Given the description of an element on the screen output the (x, y) to click on. 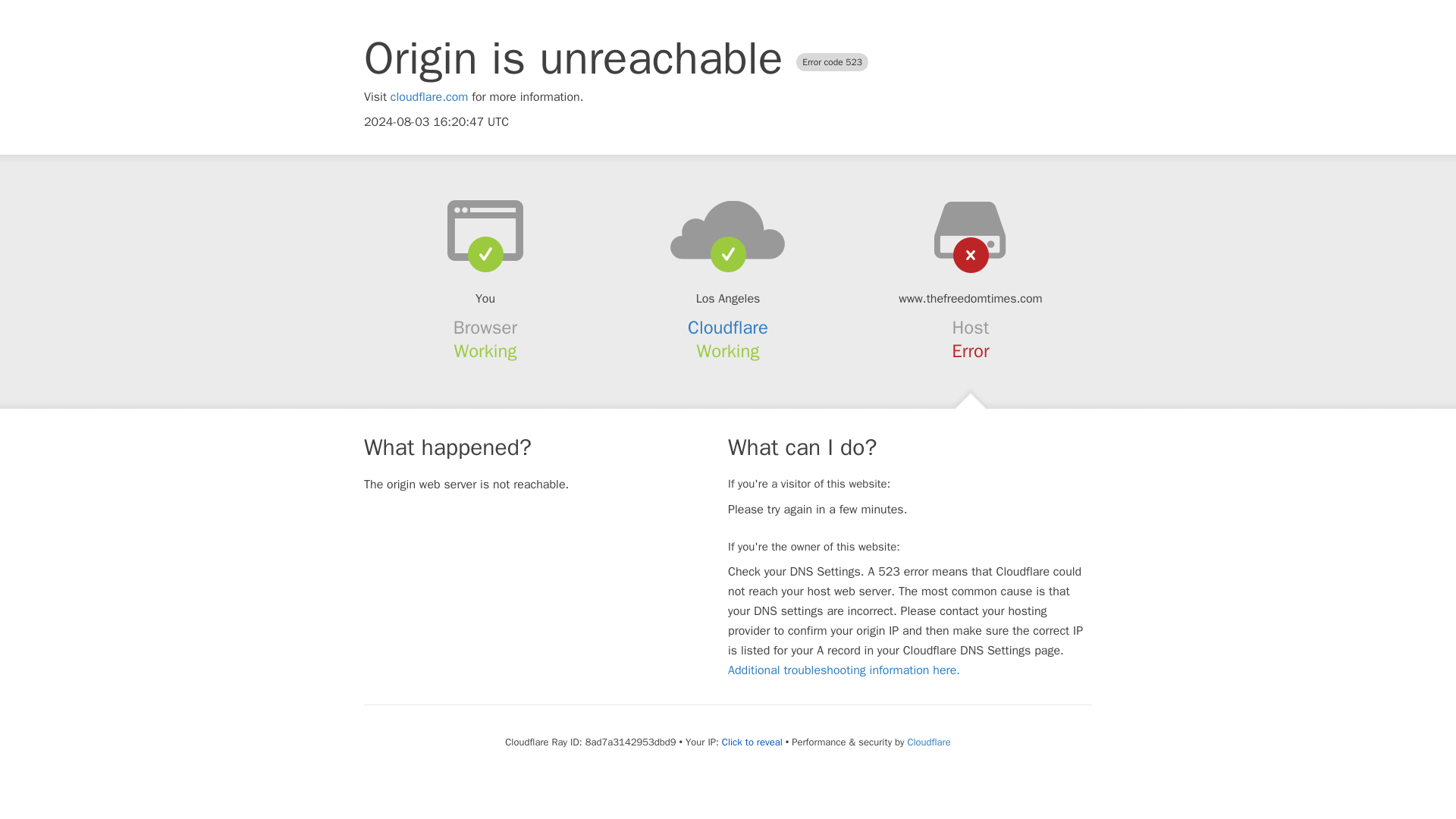
Additional troubleshooting information here. (843, 670)
Click to reveal (752, 742)
cloudflare.com (429, 96)
Cloudflare (727, 327)
Cloudflare (928, 741)
